Given the description of an element on the screen output the (x, y) to click on. 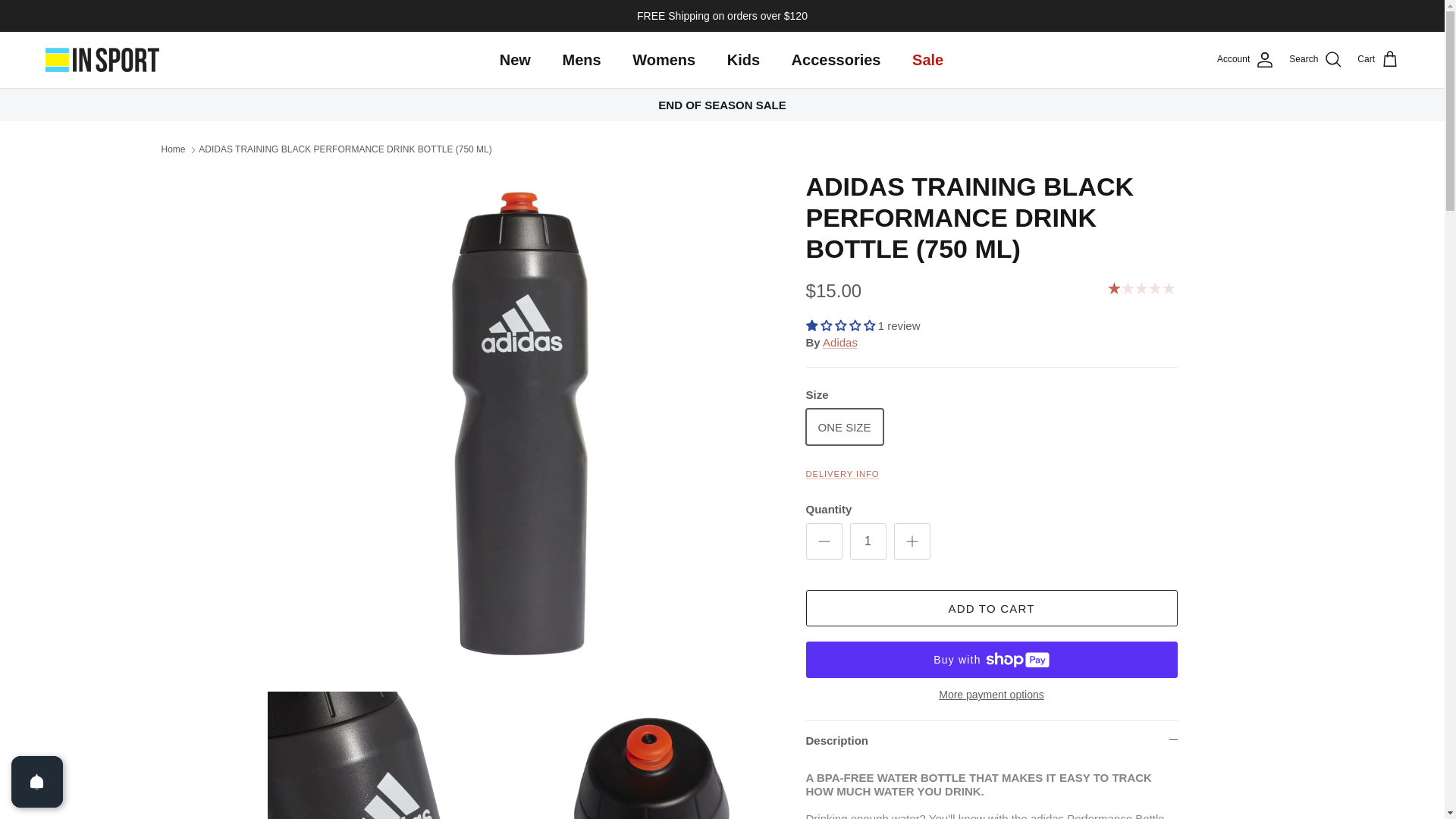
Accessories (836, 59)
INSPORT (101, 59)
Sale (927, 59)
Cart (1377, 59)
1 (866, 541)
Account (1245, 59)
Mens (581, 59)
Womens (663, 59)
Search (1315, 59)
Kids (743, 59)
New (515, 59)
